Given the description of an element on the screen output the (x, y) to click on. 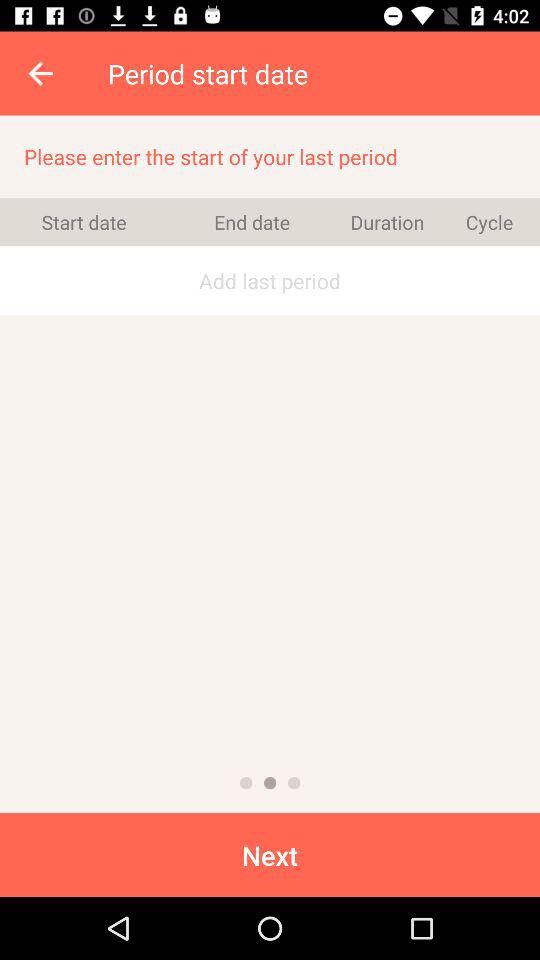
go to previous (246, 783)
